Given the description of an element on the screen output the (x, y) to click on. 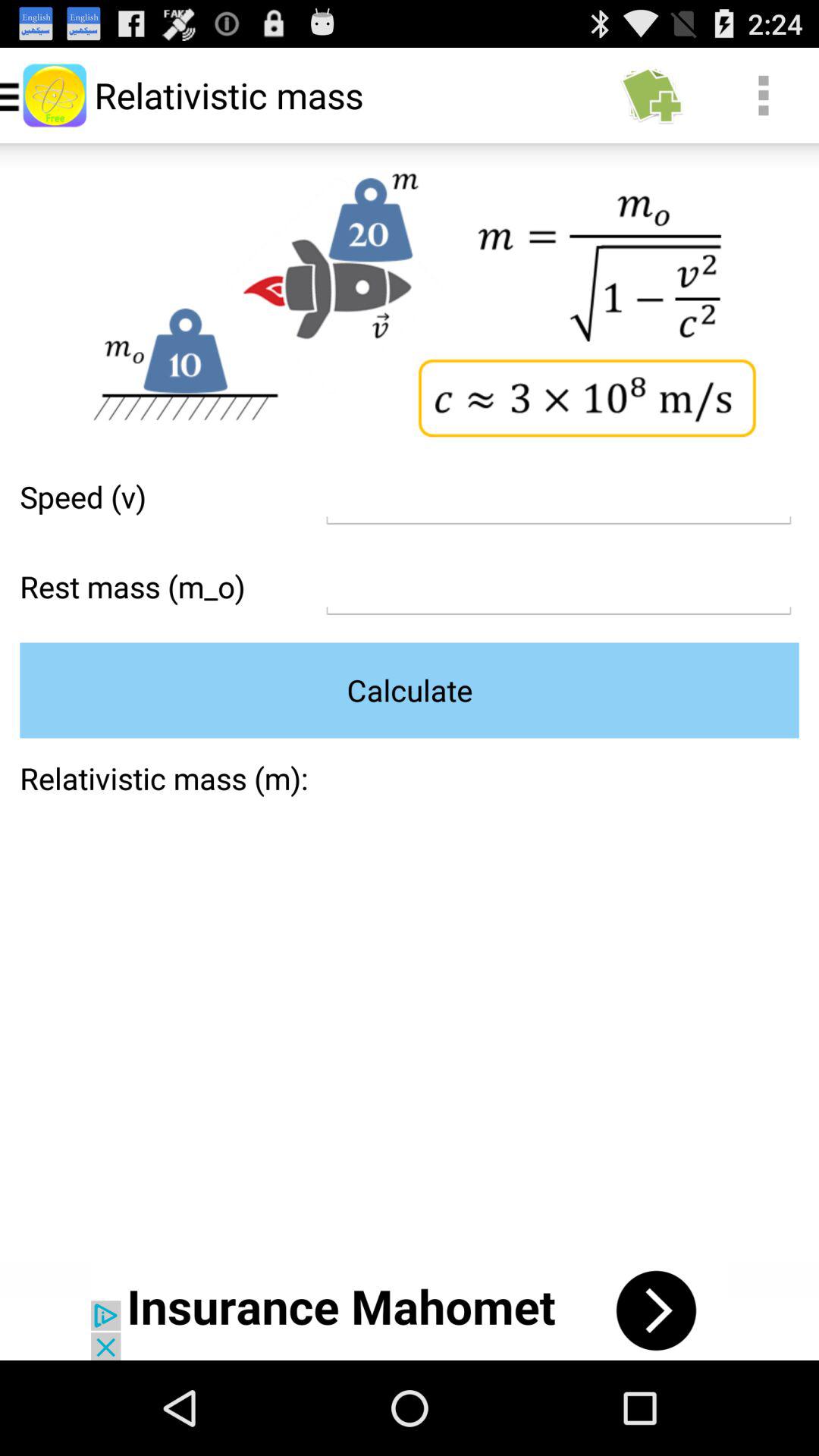
text in the word (558, 587)
